Given the description of an element on the screen output the (x, y) to click on. 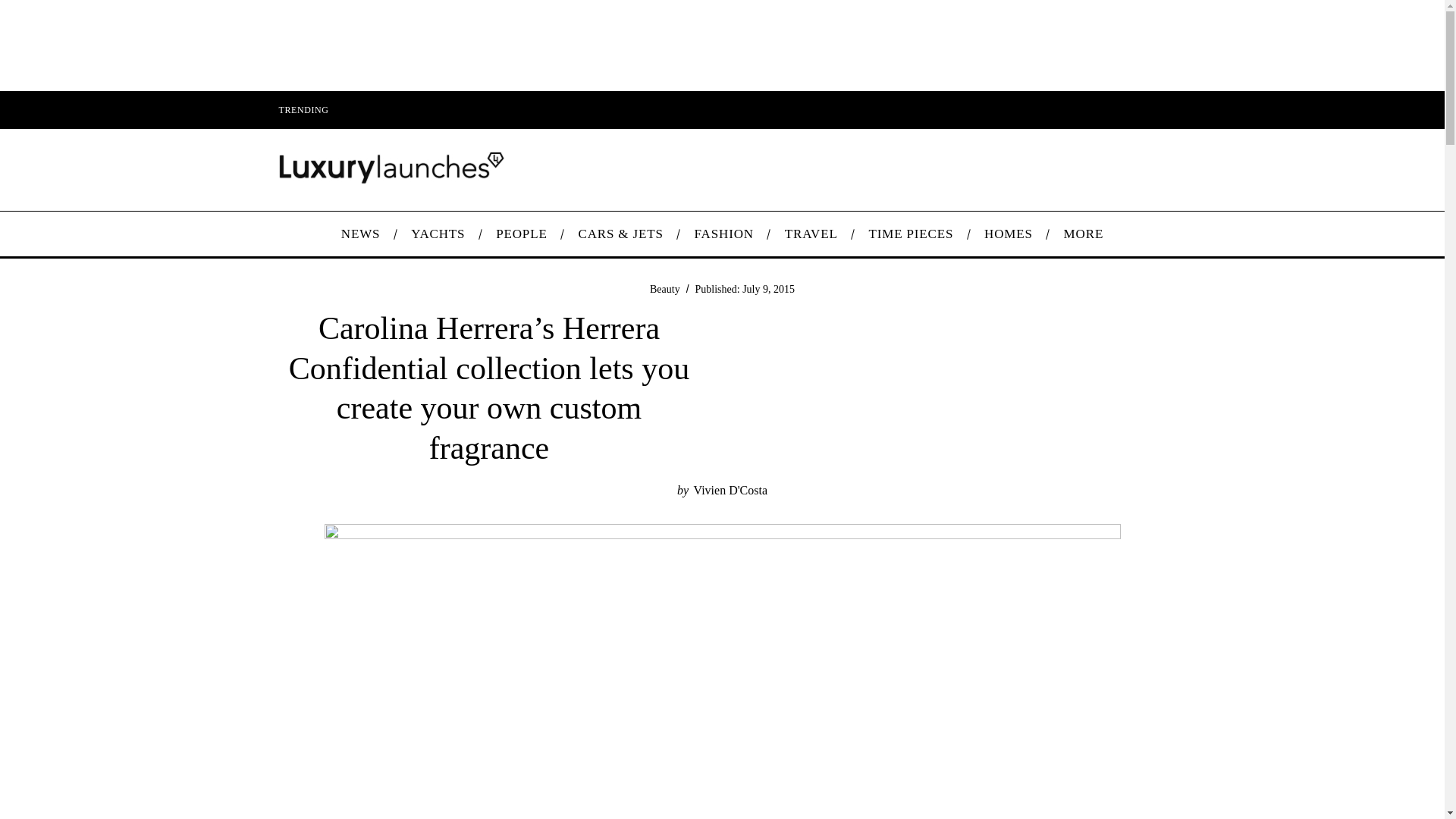
TRENDING (302, 109)
Beauty (664, 288)
MORE (1083, 233)
HOMES (1008, 233)
TIME PIECES (911, 233)
Vivien D'Costa (730, 490)
